Given the description of an element on the screen output the (x, y) to click on. 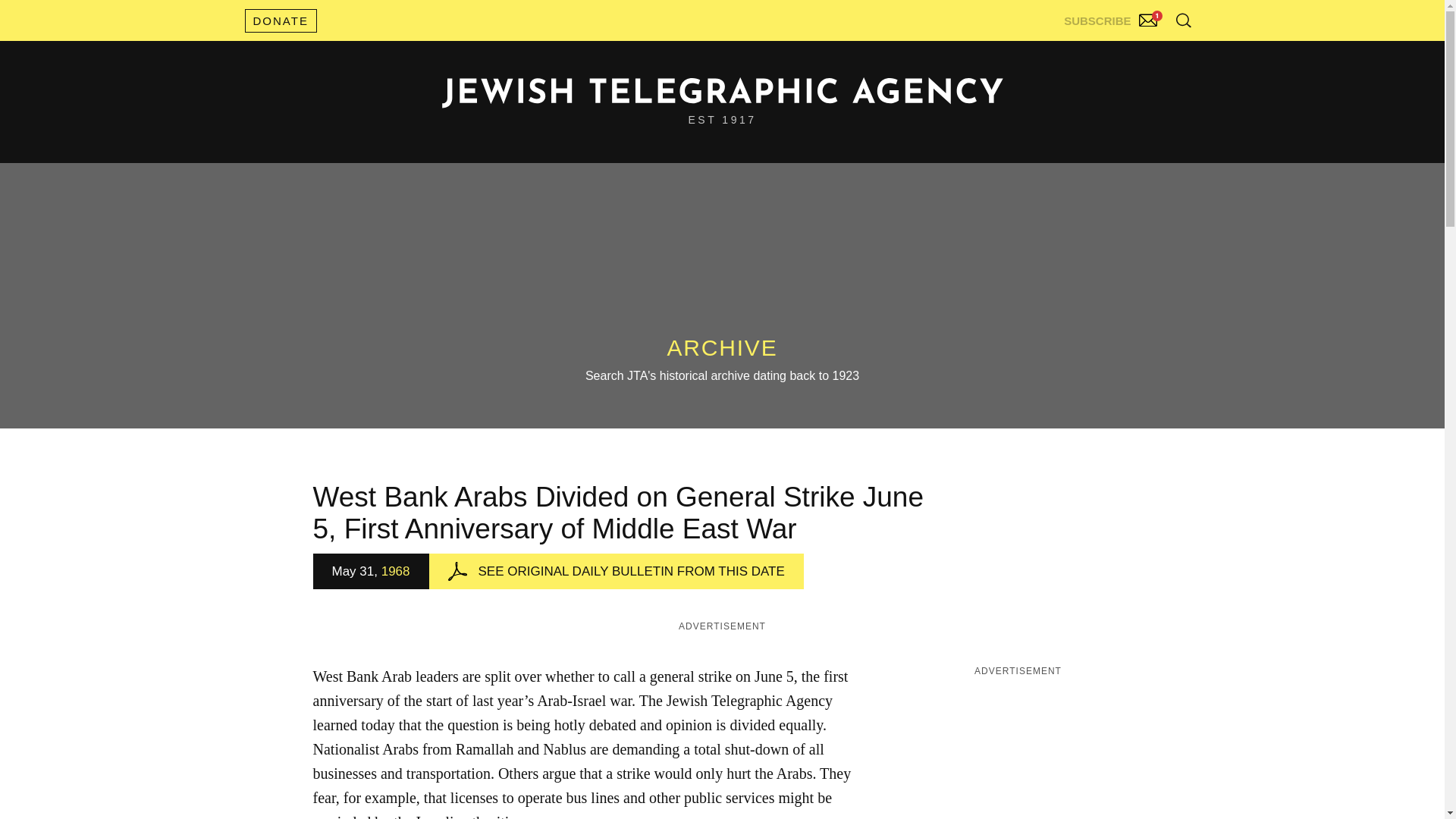
DONATE (279, 20)
SUBSCRIBE (1112, 17)
Search (1144, 53)
SEARCH TOGGLESEARCH TOGGLE (1182, 20)
